Given the description of an element on the screen output the (x, y) to click on. 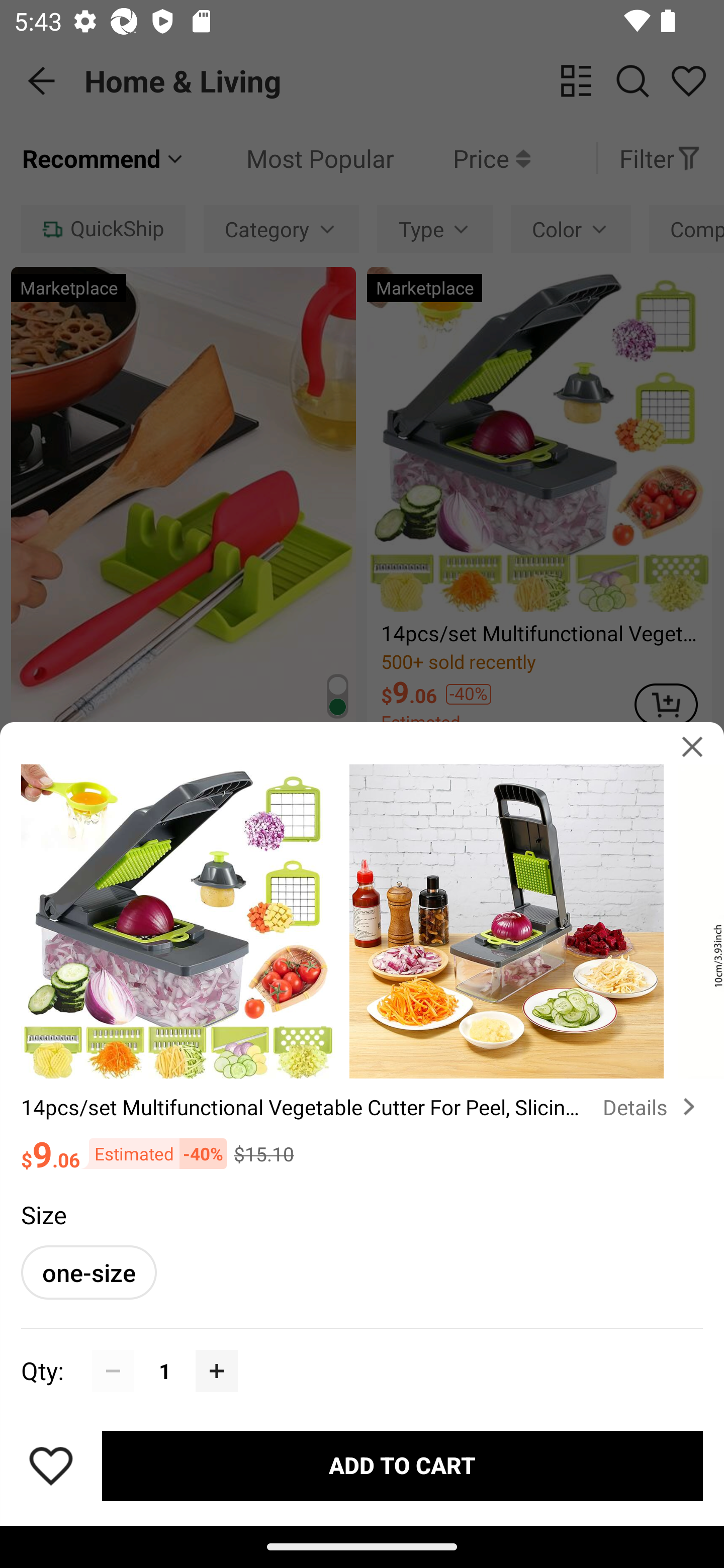
Details (653, 1106)
Estimated -40% (152, 1153)
Size (43, 1213)
one-size one-sizeunselected option (88, 1271)
ADD TO CART (402, 1465)
Save (50, 1465)
